Given the description of an element on the screen output the (x, y) to click on. 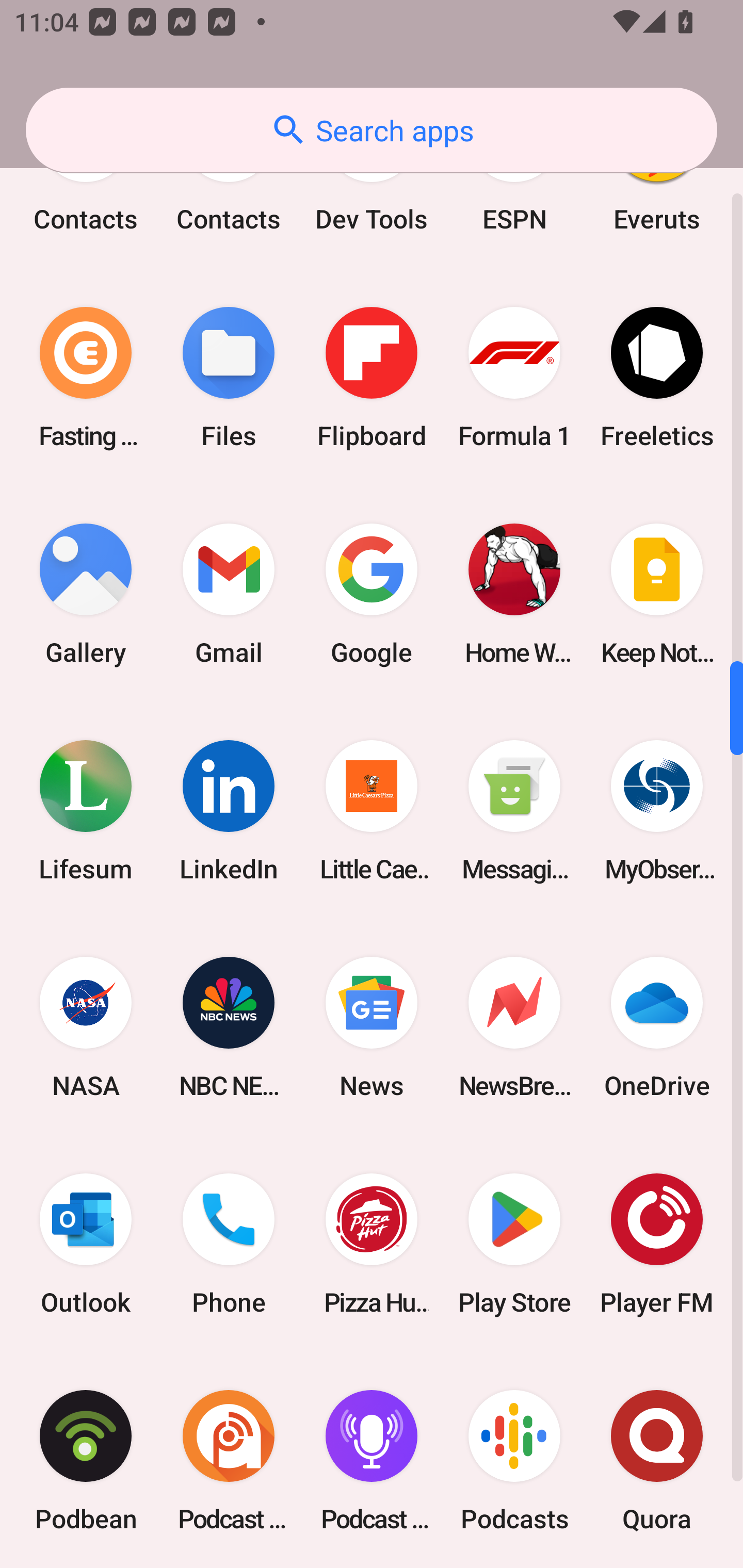
  Search apps (371, 130)
Fasting Coach (85, 377)
Files (228, 377)
Flipboard (371, 377)
Formula 1 (514, 377)
Freeletics (656, 377)
Gallery (85, 594)
Gmail (228, 594)
Google (371, 594)
Home Workout (514, 594)
Keep Notes (656, 594)
Lifesum (85, 810)
LinkedIn (228, 810)
Little Caesars Pizza (371, 810)
Messaging (514, 810)
MyObservatory (656, 810)
NASA (85, 1026)
NBC NEWS (228, 1026)
News (371, 1026)
NewsBreak (514, 1026)
OneDrive (656, 1026)
Outlook (85, 1243)
Phone (228, 1243)
Pizza Hut HK & Macau (371, 1243)
Play Store (514, 1243)
Player FM (656, 1243)
Podbean (85, 1459)
Podcast Addict (228, 1459)
Podcast Player (371, 1459)
Podcasts (514, 1459)
Quora (656, 1459)
